Given the description of an element on the screen output the (x, y) to click on. 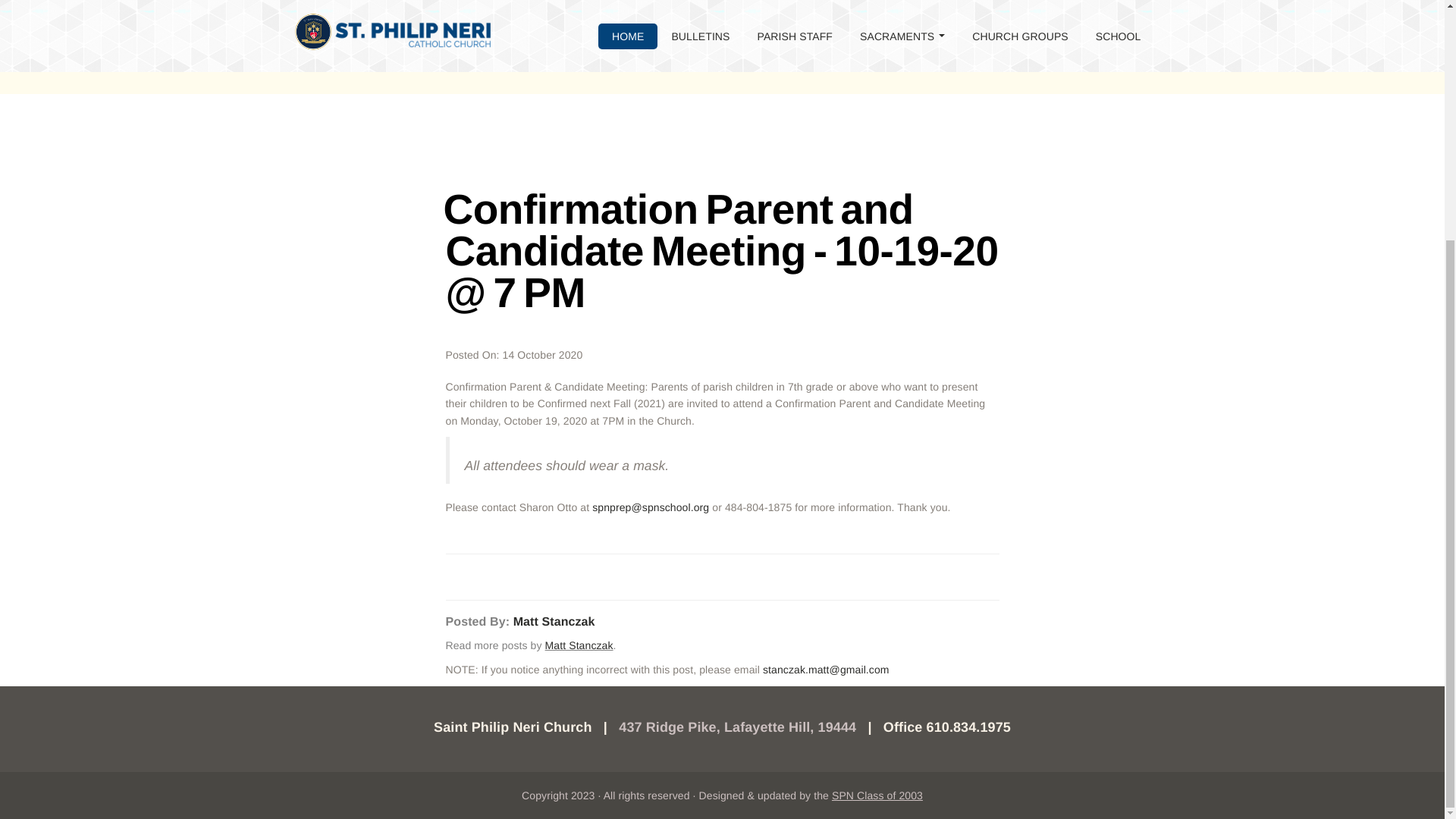
Matt Stanczak (578, 645)
Matt Stanczak (554, 621)
SPN Class of 2003 (877, 795)
437 Ridge Pike, Lafayette Hill, 19444 (737, 726)
